Given the description of an element on the screen output the (x, y) to click on. 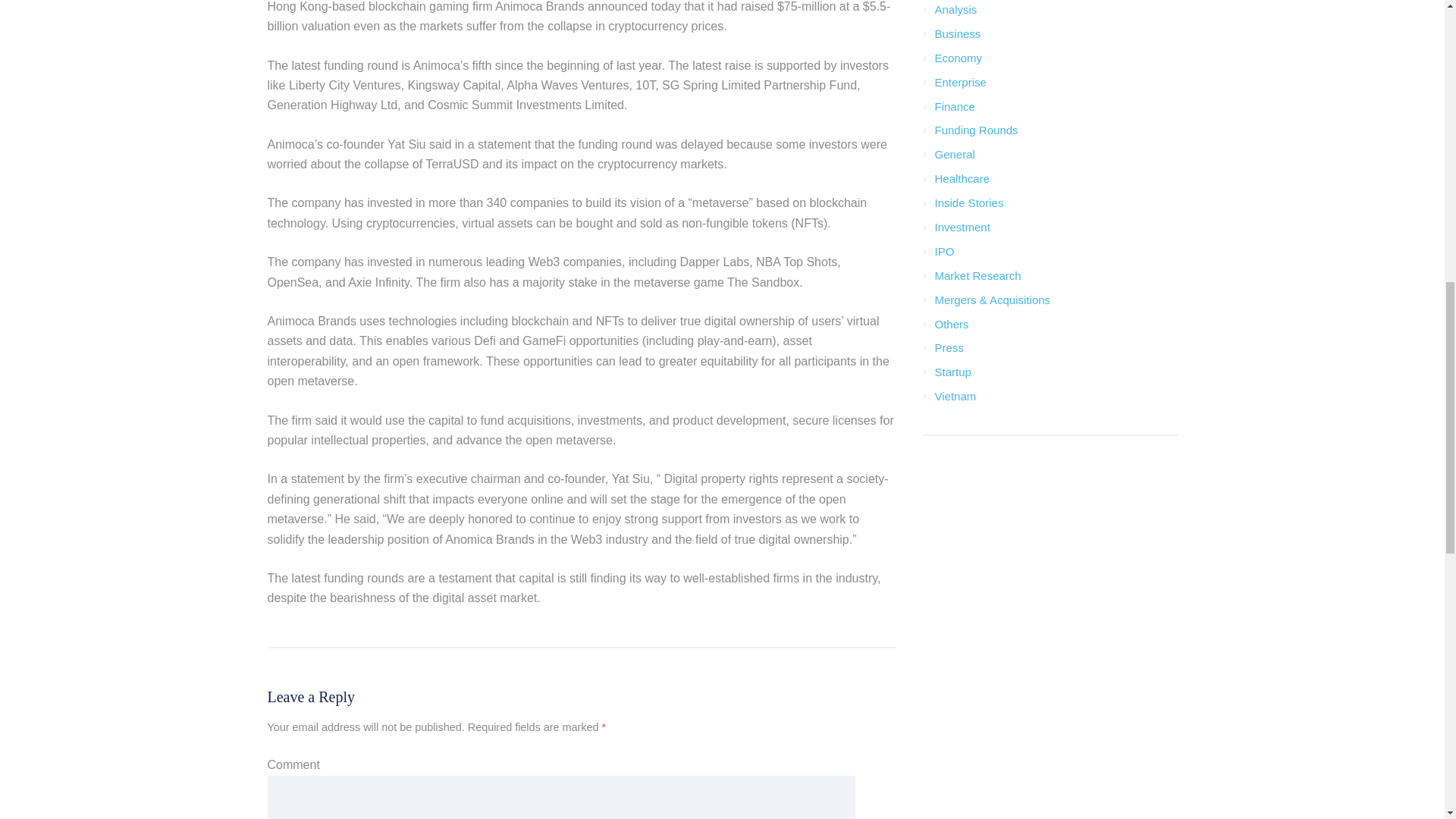
Economy (957, 57)
Analysis (955, 9)
Enterprise (959, 82)
Funding Rounds (975, 129)
Business (956, 33)
Healthcare (962, 178)
Finance (954, 106)
General (954, 154)
